Given the description of an element on the screen output the (x, y) to click on. 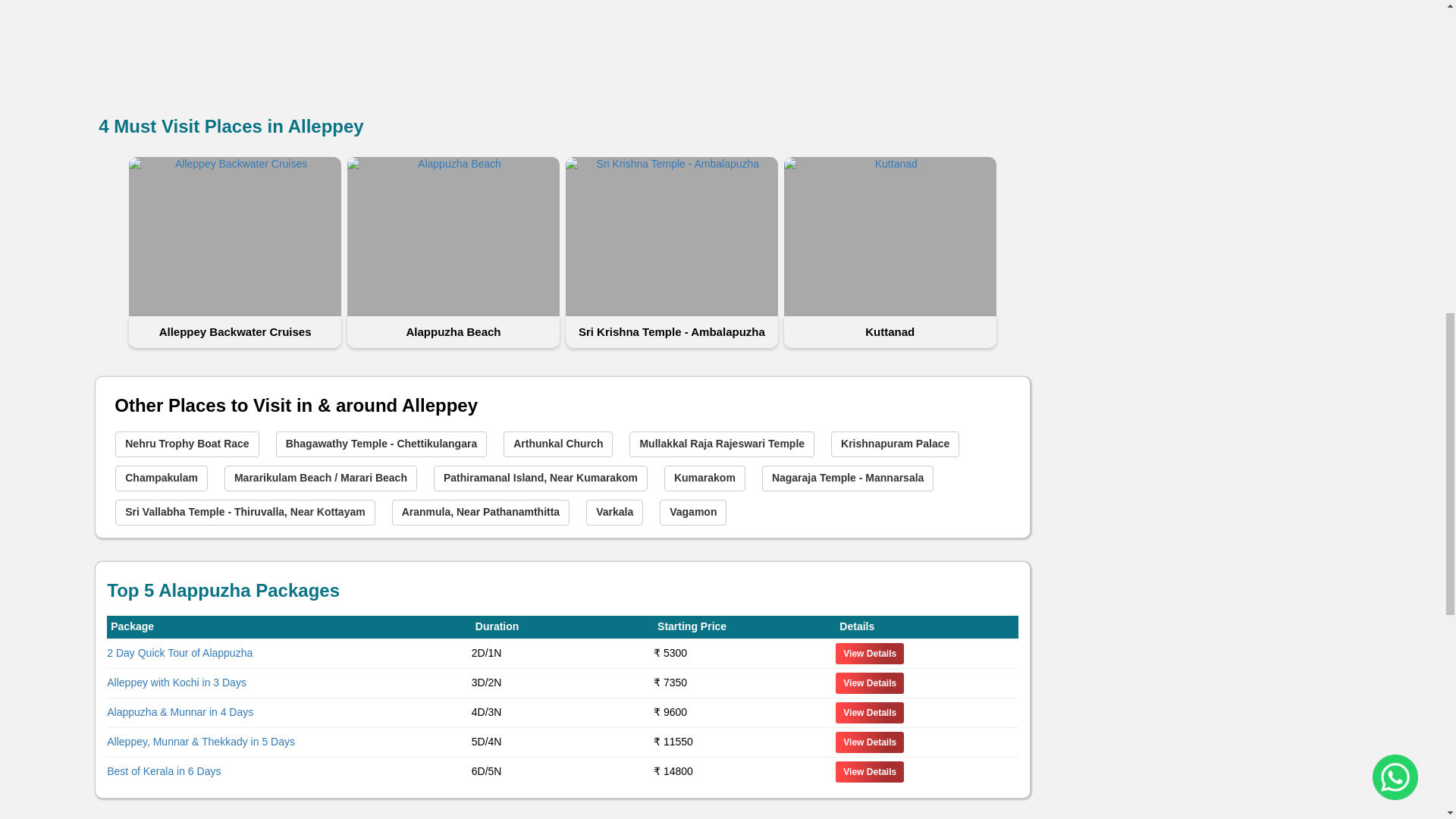
Arthunkal Church (557, 444)
Champakulam (161, 478)
Kumarakom (704, 478)
Bhagawathy Temple - Chettikulangara (381, 444)
Mullakkal Raja Rajeswari Temple (720, 444)
Pathiramanal Island, Near Kumarakom (540, 478)
Nehru Trophy Boat Race (187, 444)
Krishnapuram Palace (895, 444)
Advertisement (1035, 11)
